Given the description of an element on the screen output the (x, y) to click on. 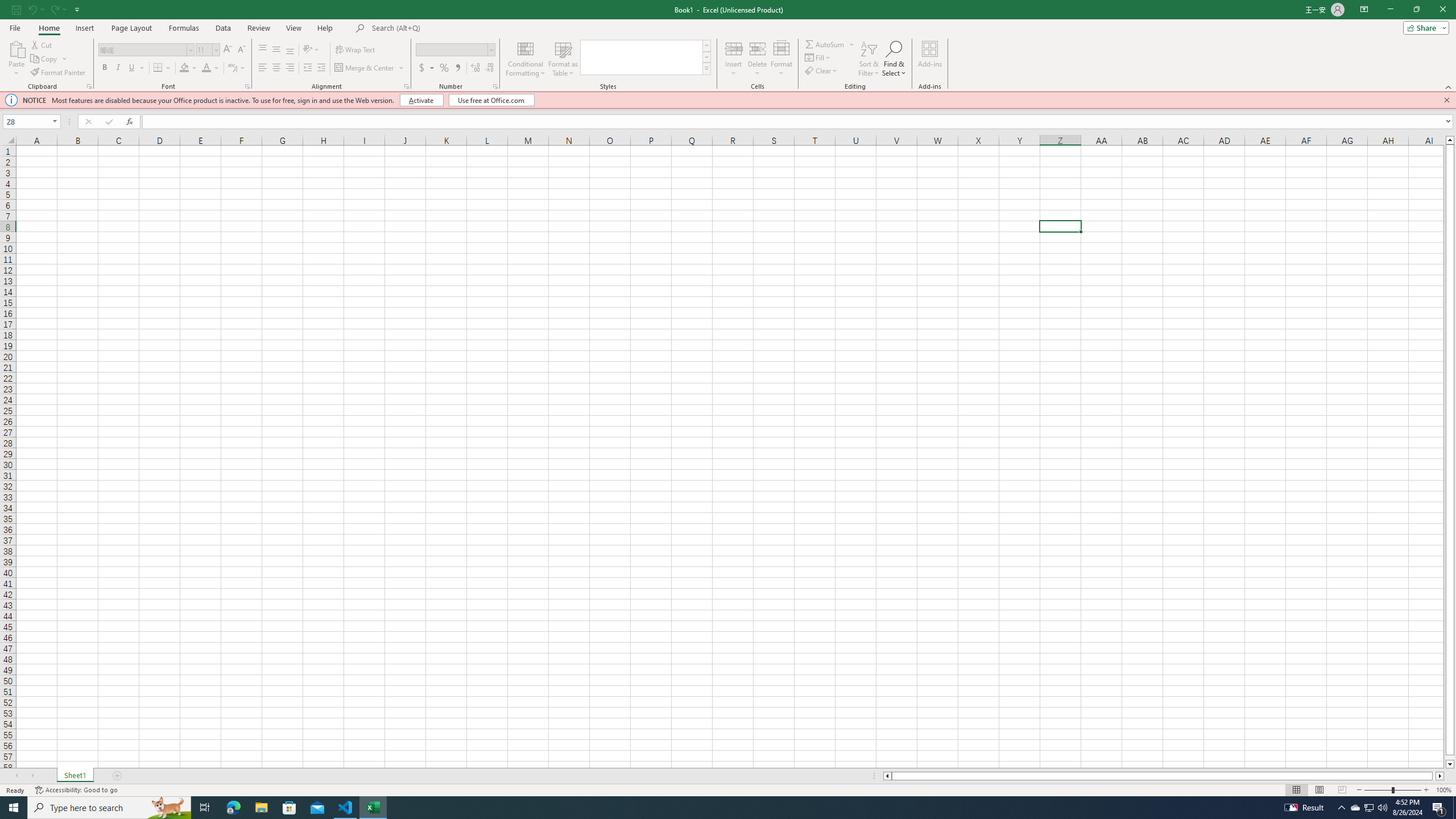
AutoSum (830, 44)
Orientation (311, 49)
Bold (104, 67)
Decrease Decimal (489, 67)
Delete Cells... (757, 48)
Bottom Align (290, 49)
